Given the description of an element on the screen output the (x, y) to click on. 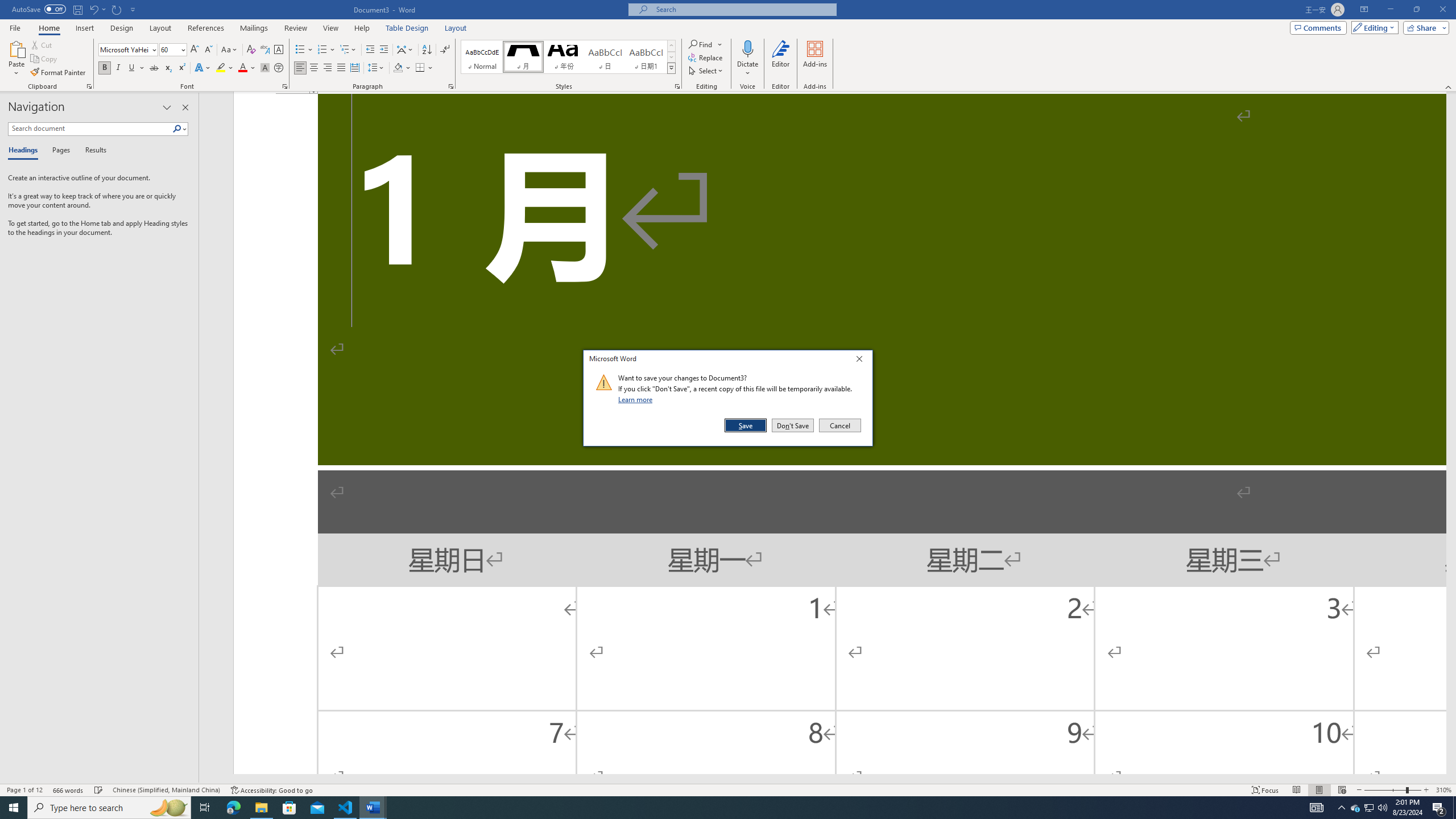
Running applications (717, 807)
